Given the description of an element on the screen output the (x, y) to click on. 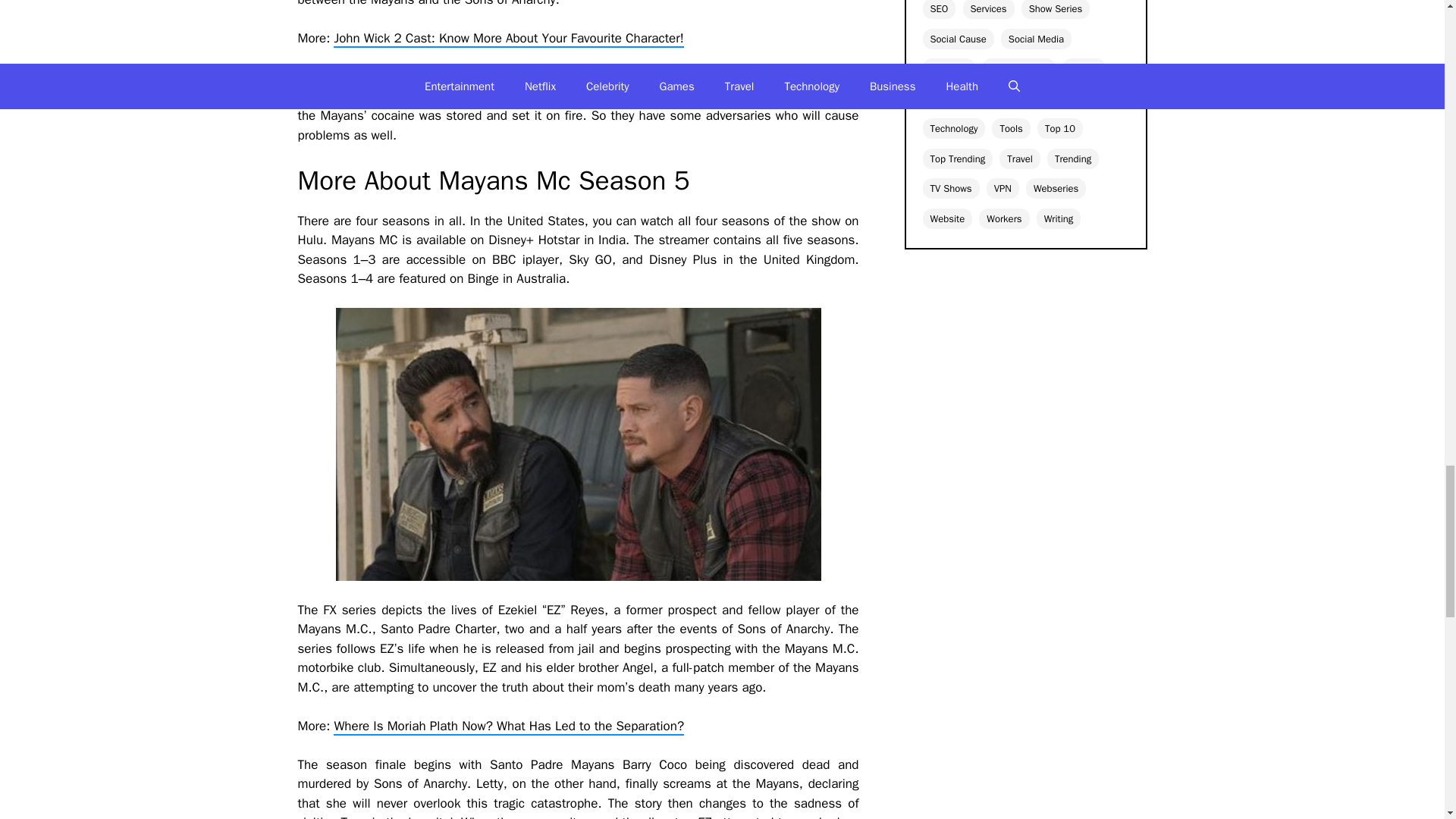
John Wick 2 Cast: Know More About Your Favourite Character! (507, 38)
Where Is Moriah Plath Now? What Has Led to the Separation? (508, 726)
